Given the description of an element on the screen output the (x, y) to click on. 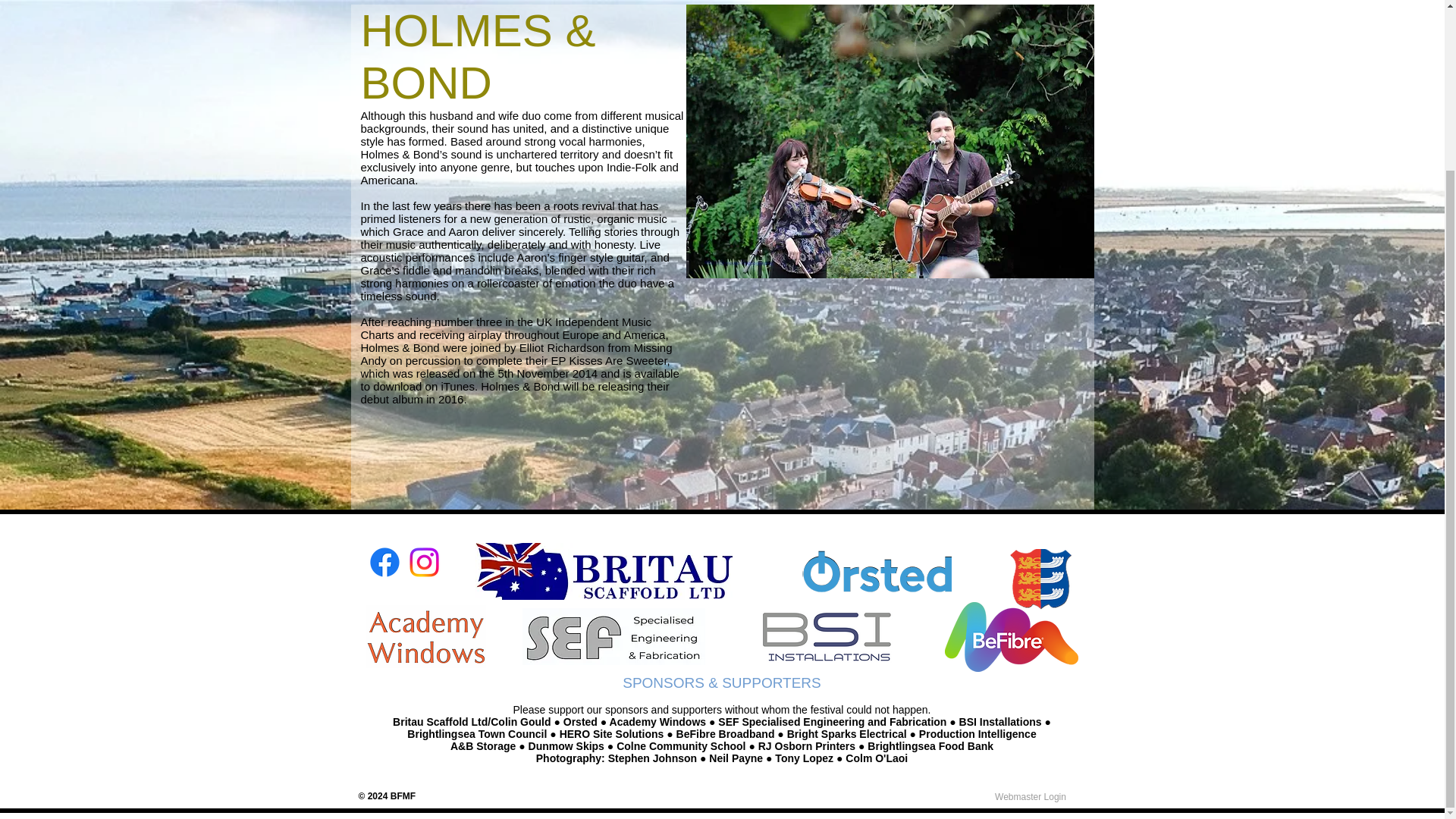
Webmaster Login (1029, 796)
HOLMES.jpg (889, 141)
External YouTube (889, 387)
